Given the description of an element on the screen output the (x, y) to click on. 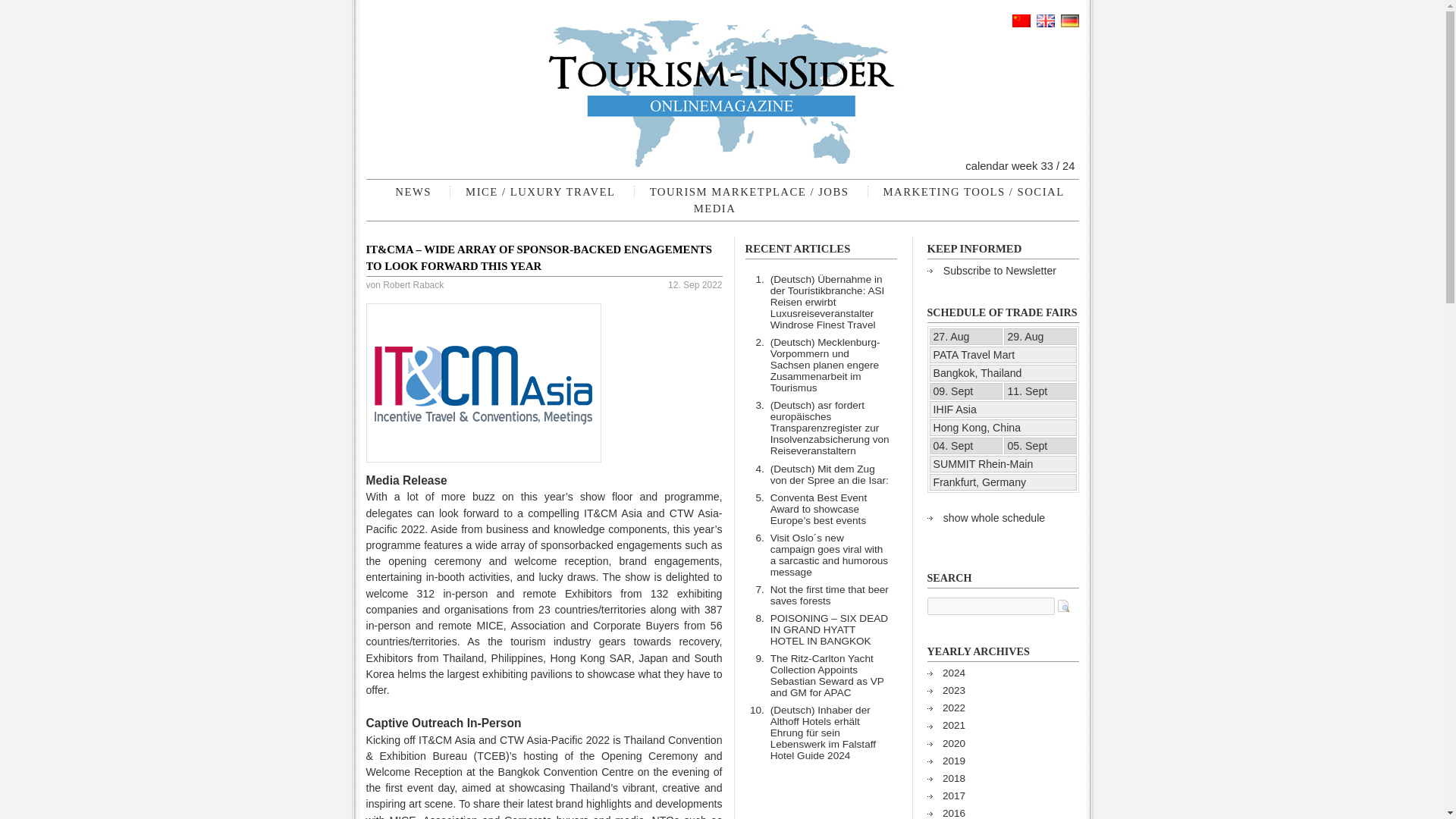
2020 (953, 742)
Read more about the category MICE and Luxury Travel (540, 191)
2018 (953, 778)
2024 (953, 672)
show whole schedule (994, 517)
2022 (953, 707)
2017 (953, 795)
NEWS (413, 191)
Tourism-Insider auf Deutsch (1068, 23)
Not the first time that beer saves forests (829, 594)
